Given the description of an element on the screen output the (x, y) to click on. 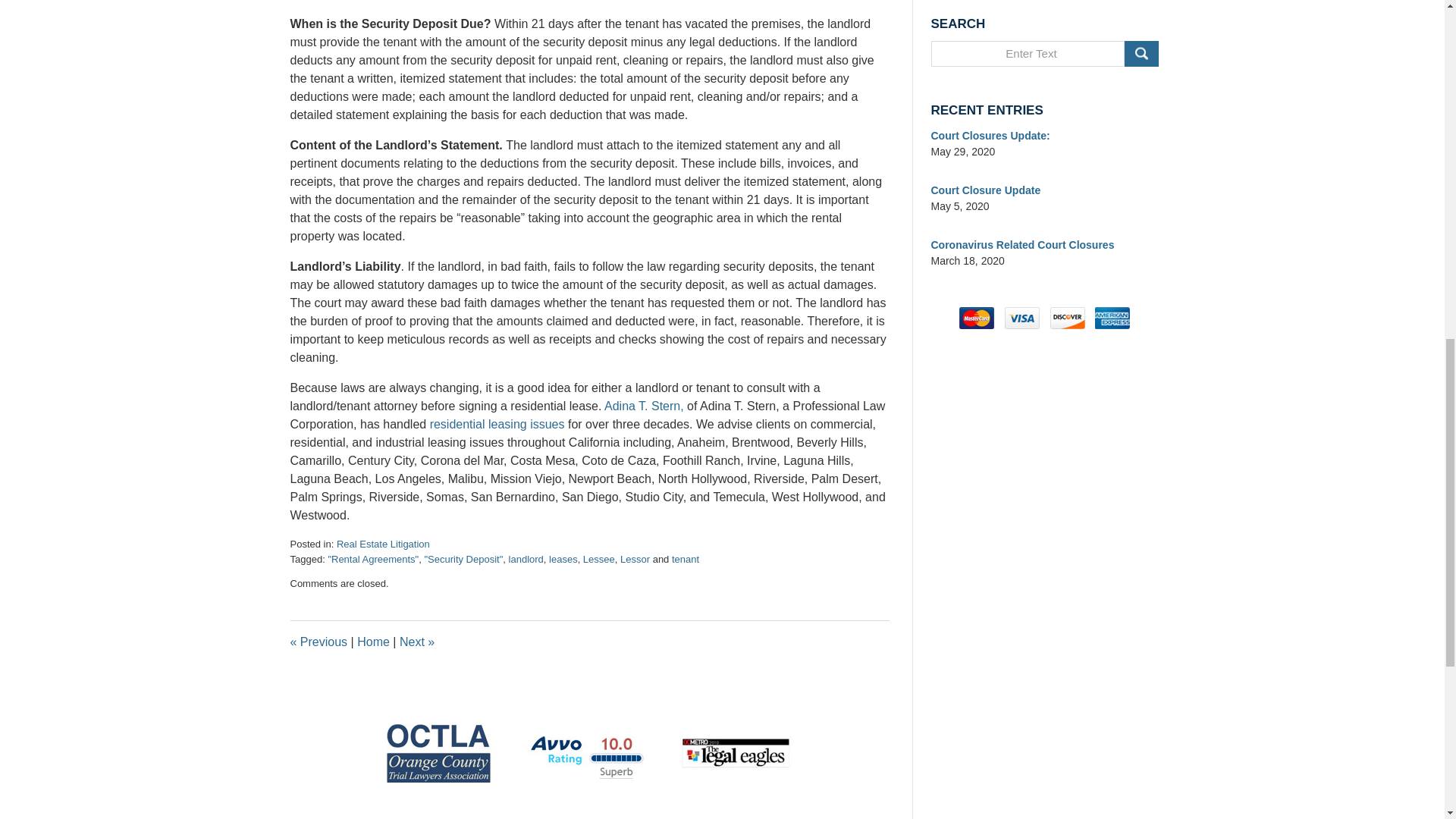
residential leasing issues (496, 423)
View all posts tagged with Lessor (634, 559)
Home (373, 641)
View all posts tagged with "Security Deposit" (462, 559)
tenant (684, 559)
View all posts tagged with "Rental Agreements" (373, 559)
Adina T. Stern, (644, 405)
View all posts tagged with Lessee (598, 559)
"Rental Agreements" (373, 559)
Lessee (598, 559)
leases (563, 559)
View all posts in Real Estate Litigation (382, 543)
View all posts tagged with landlord (525, 559)
Buying a Business: Common Dangers and Pitfalls (415, 641)
View all posts tagged with tenant (684, 559)
